Given the description of an element on the screen output the (x, y) to click on. 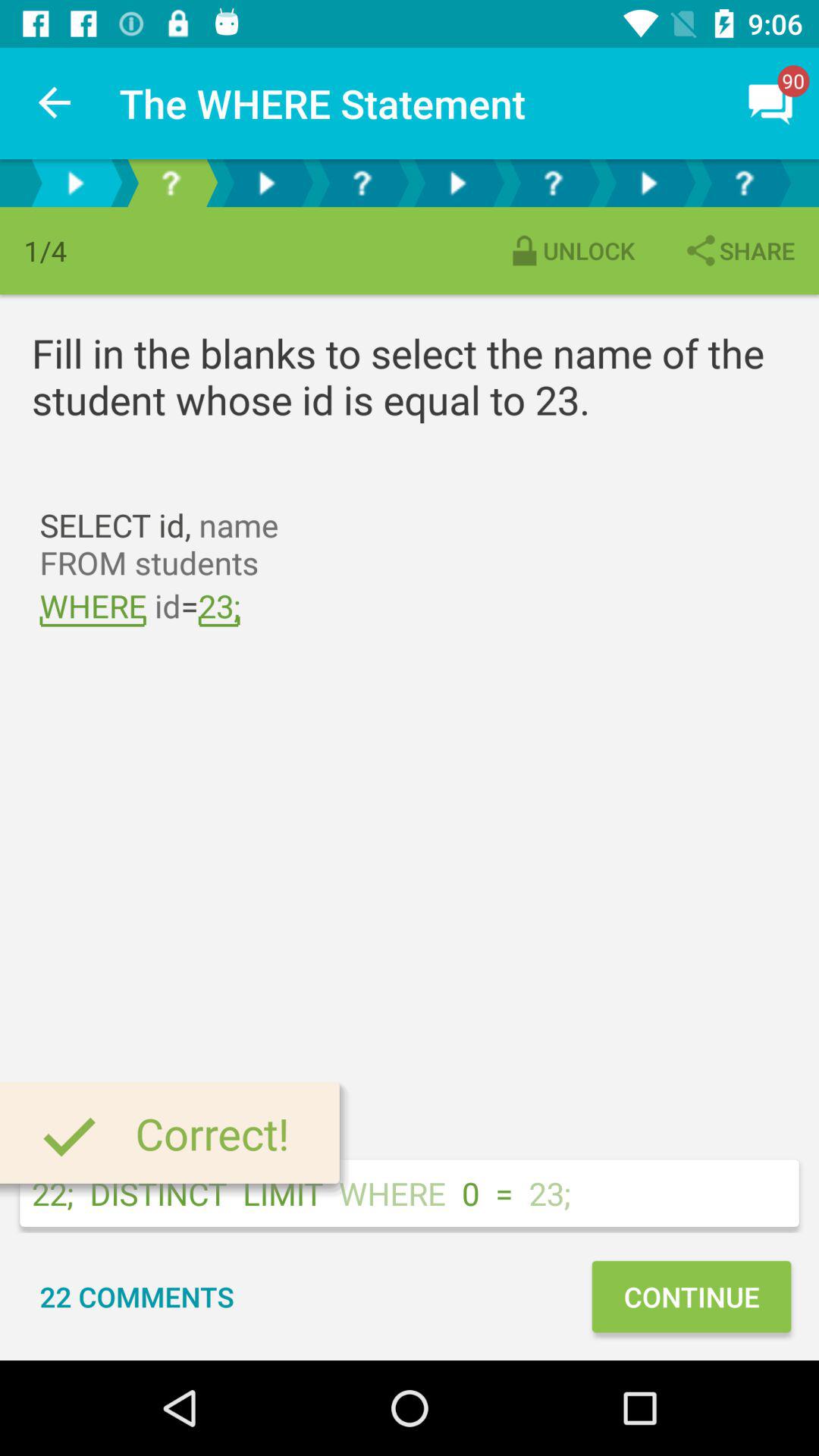
help (170, 183)
